Given the description of an element on the screen output the (x, y) to click on. 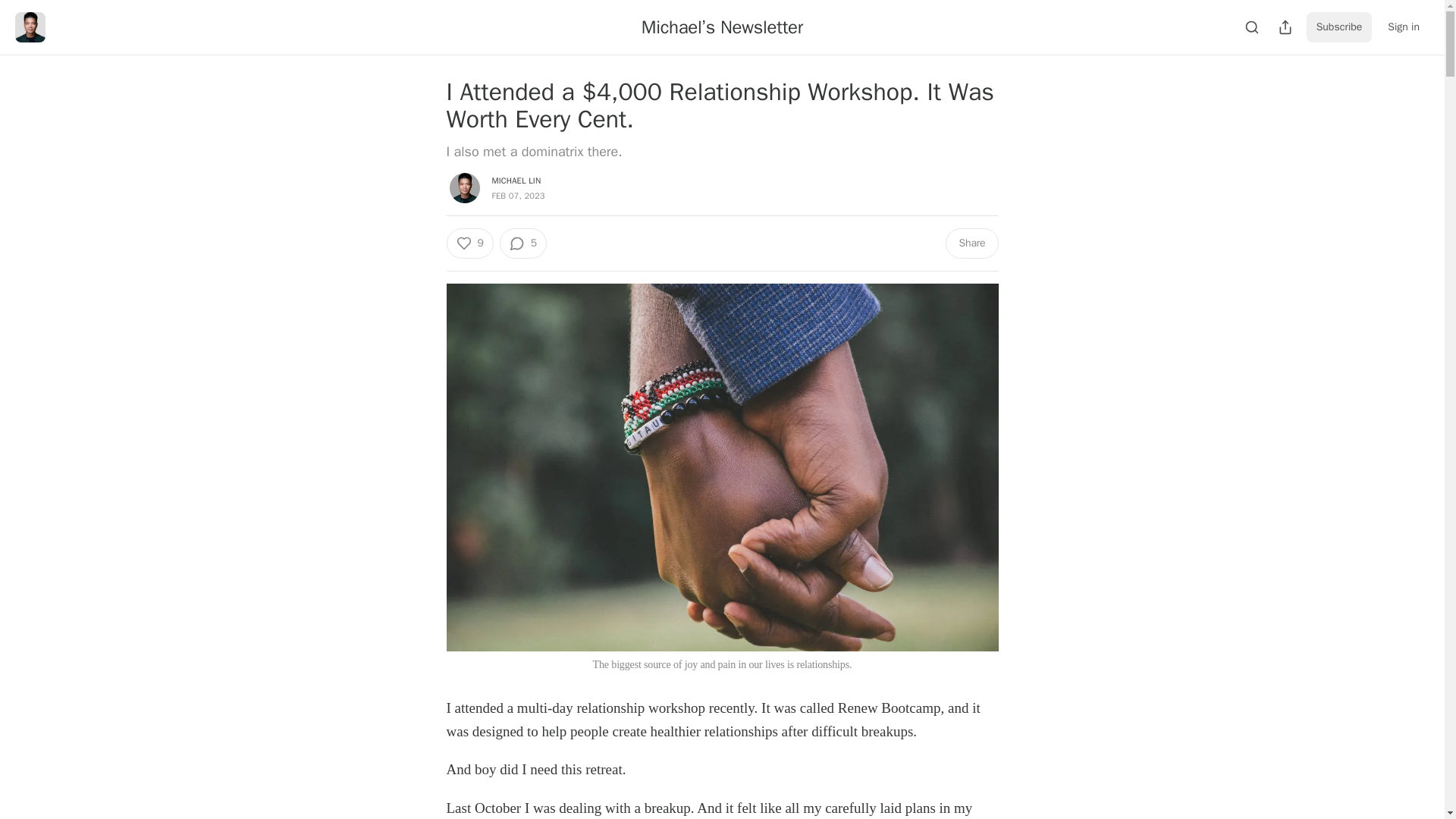
Subscribe (1339, 27)
9 (469, 243)
MICHAEL LIN (516, 180)
Share (970, 243)
Sign in (1403, 27)
5 (523, 243)
